Given the description of an element on the screen output the (x, y) to click on. 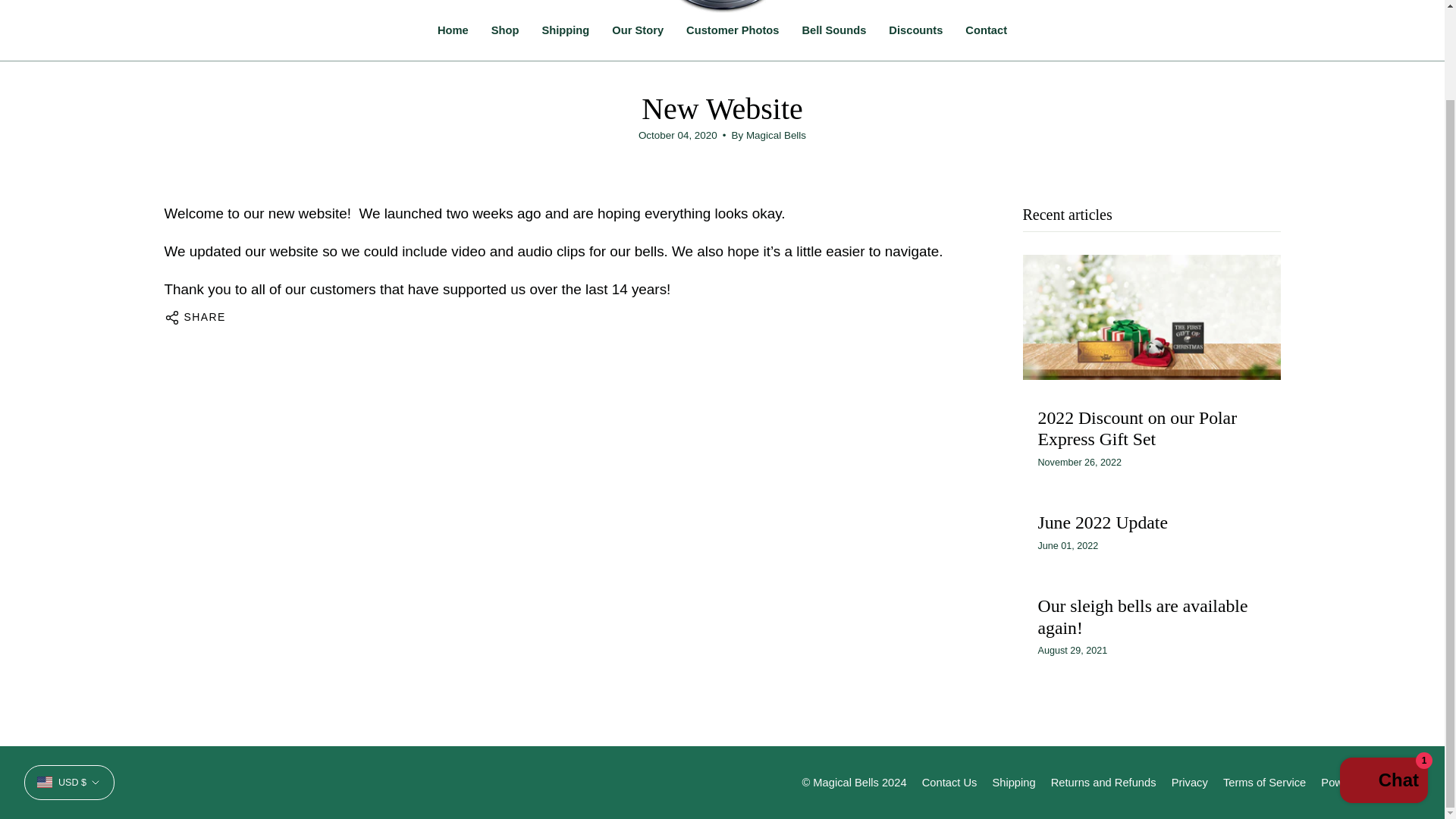
Our sleigh bells are available again! (1141, 617)
June 2022 Update (1101, 522)
Shopify online store chat (1383, 678)
2022 Discount on our Polar Express Gift Set (1136, 428)
